Given the description of an element on the screen output the (x, y) to click on. 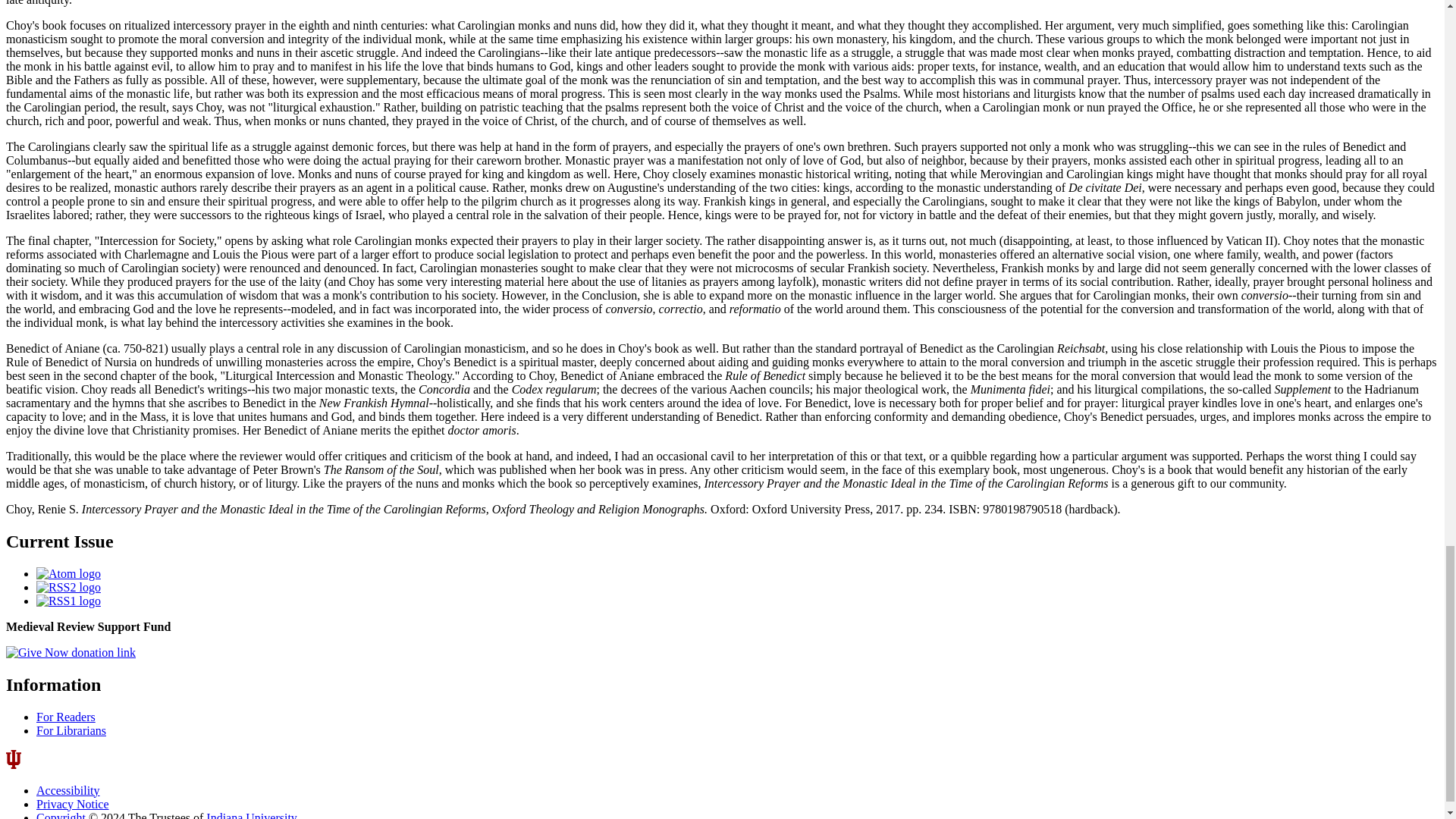
For Librarians (71, 730)
Privacy Notice (72, 803)
For Readers (66, 716)
Accessibility (68, 789)
